Given the description of an element on the screen output the (x, y) to click on. 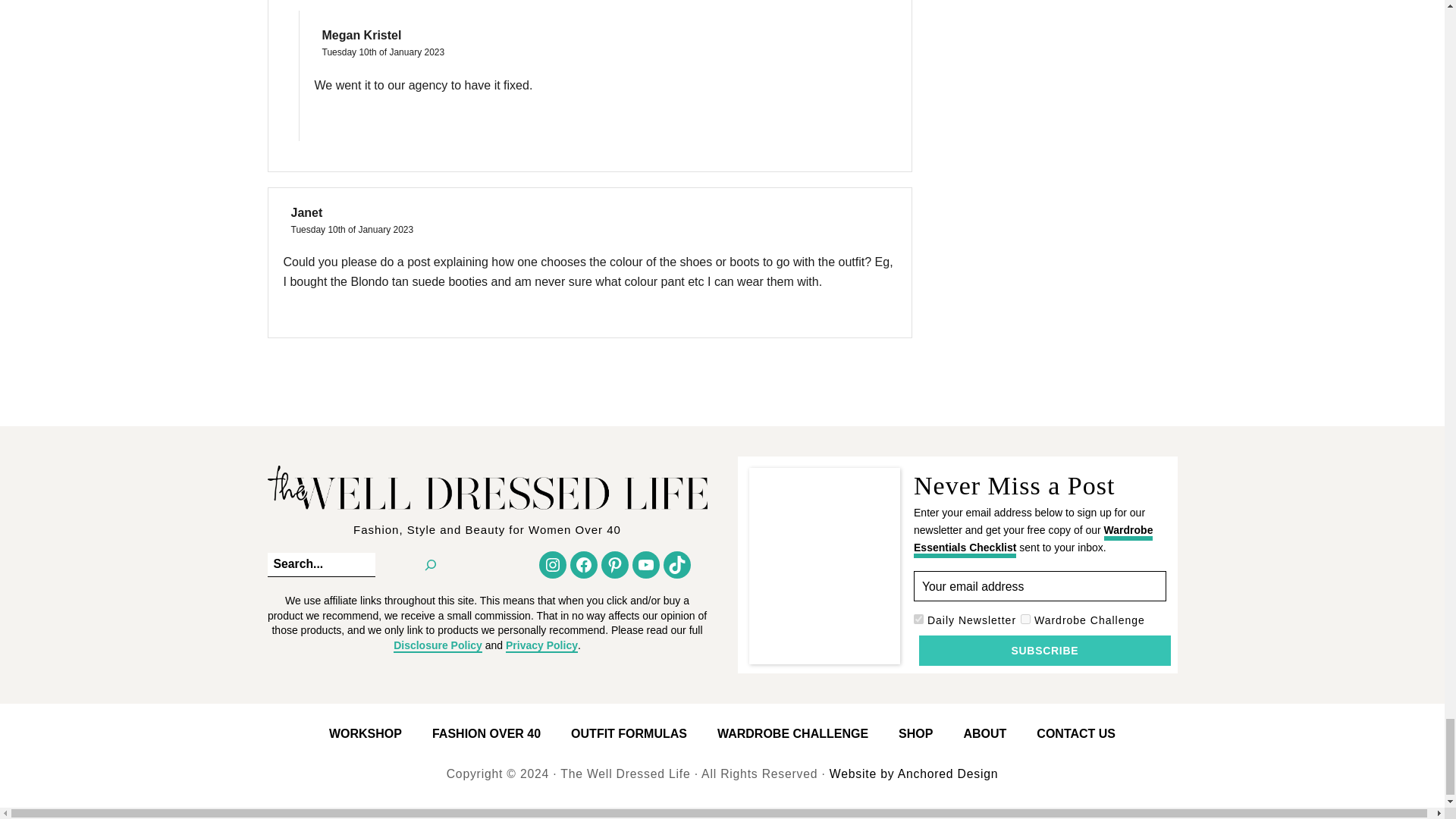
Subscribe (1044, 650)
603d70c014 (918, 619)
1dc51eb203 (1025, 619)
